Given the description of an element on the screen output the (x, y) to click on. 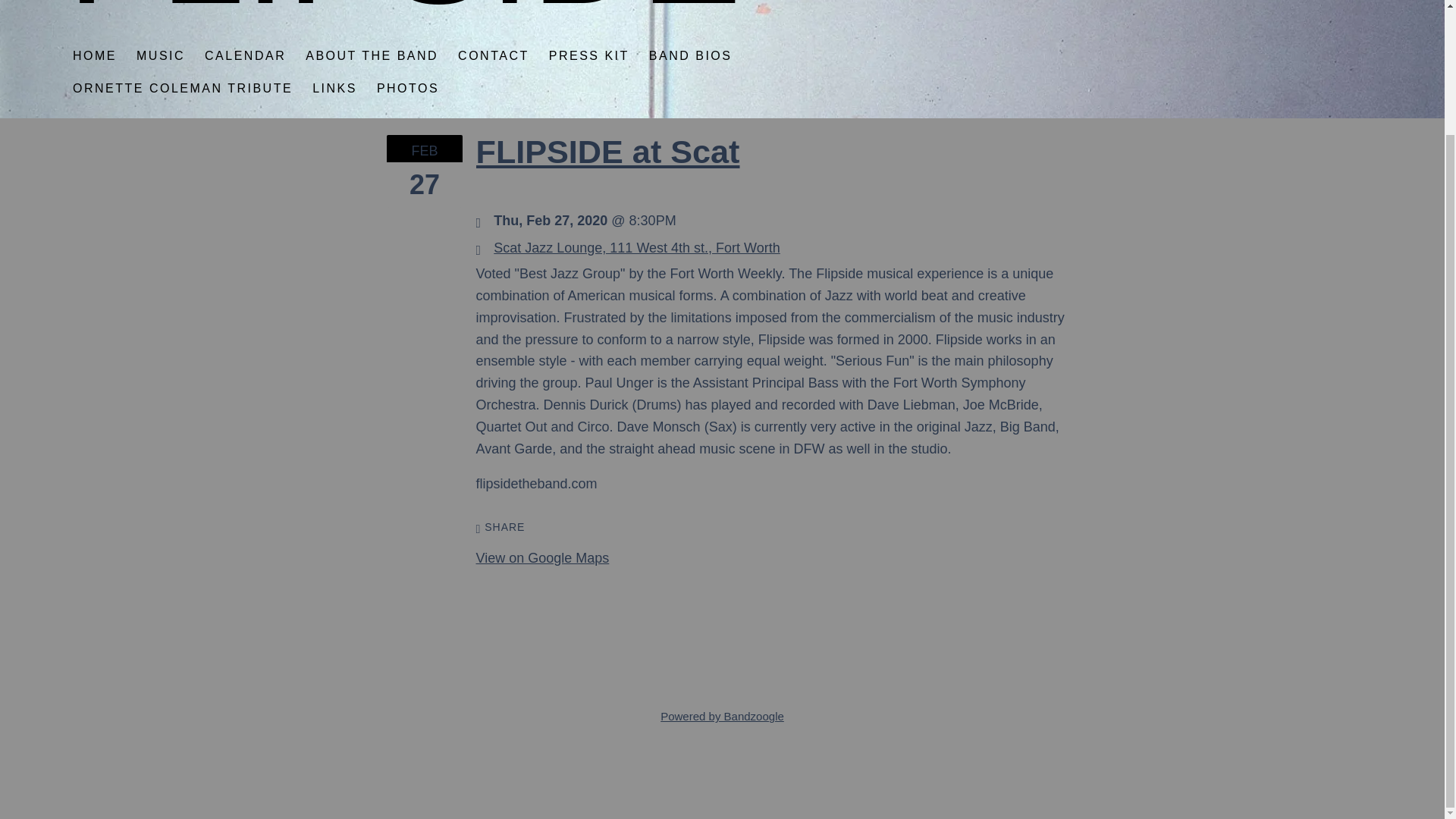
MUSIC (160, 55)
ABOUT THE BAND (371, 55)
PRESS KIT (588, 55)
View on Google Maps (543, 557)
CONTACT (493, 55)
View on Google Maps (636, 247)
BAND BIOS (690, 55)
CALENDAR (245, 55)
PHOTOS (408, 88)
ORNETTE COLEMAN TRIBUTE (182, 88)
